Given the description of an element on the screen output the (x, y) to click on. 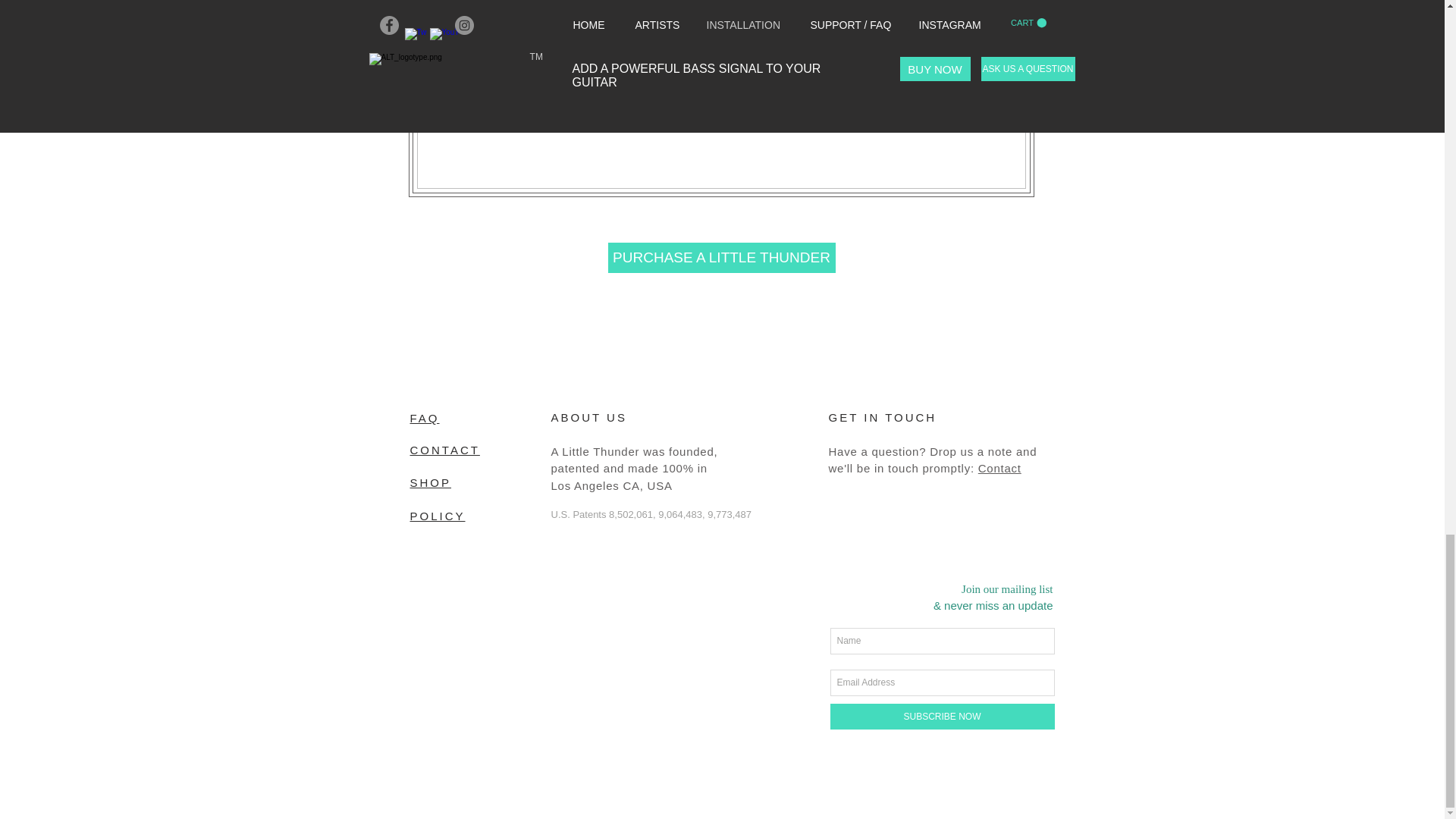
CONTACT (444, 449)
PURCHASE A LITTLE THUNDER (721, 257)
FAQ (424, 418)
POLICY (436, 515)
SUBSCRIBE NOW (941, 716)
Contact (1000, 468)
SHOP (430, 481)
